Given the description of an element on the screen output the (x, y) to click on. 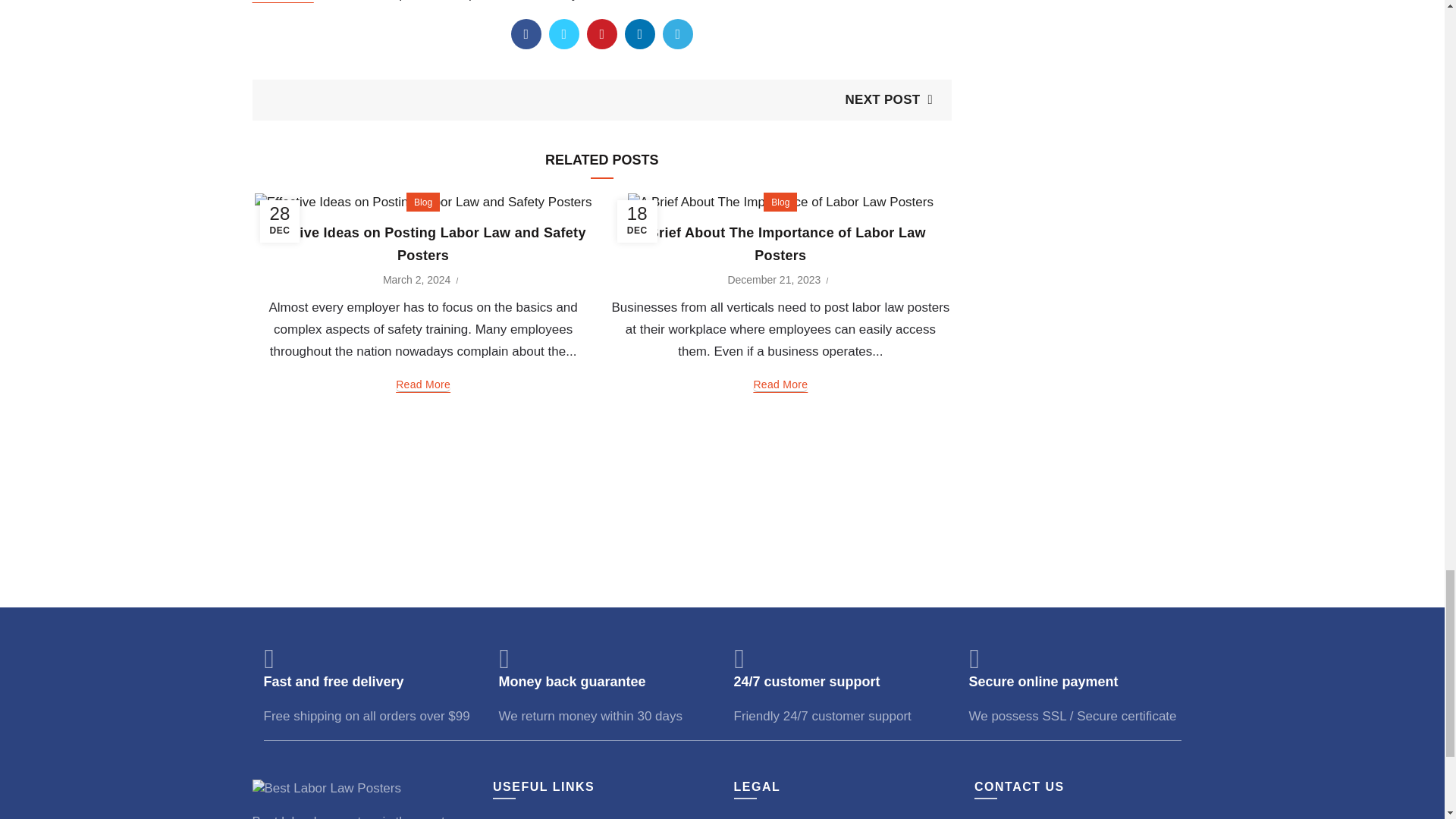
A Brief About The Importance of Labor Law Posters (780, 202)
A Brief About The Importance of Labor Law Posters (780, 244)
Effective Ideas on Posting Labor Law and Safety Posters (423, 244)
effective-ideas-on-posting-labor-law (423, 202)
